Given the description of an element on the screen output the (x, y) to click on. 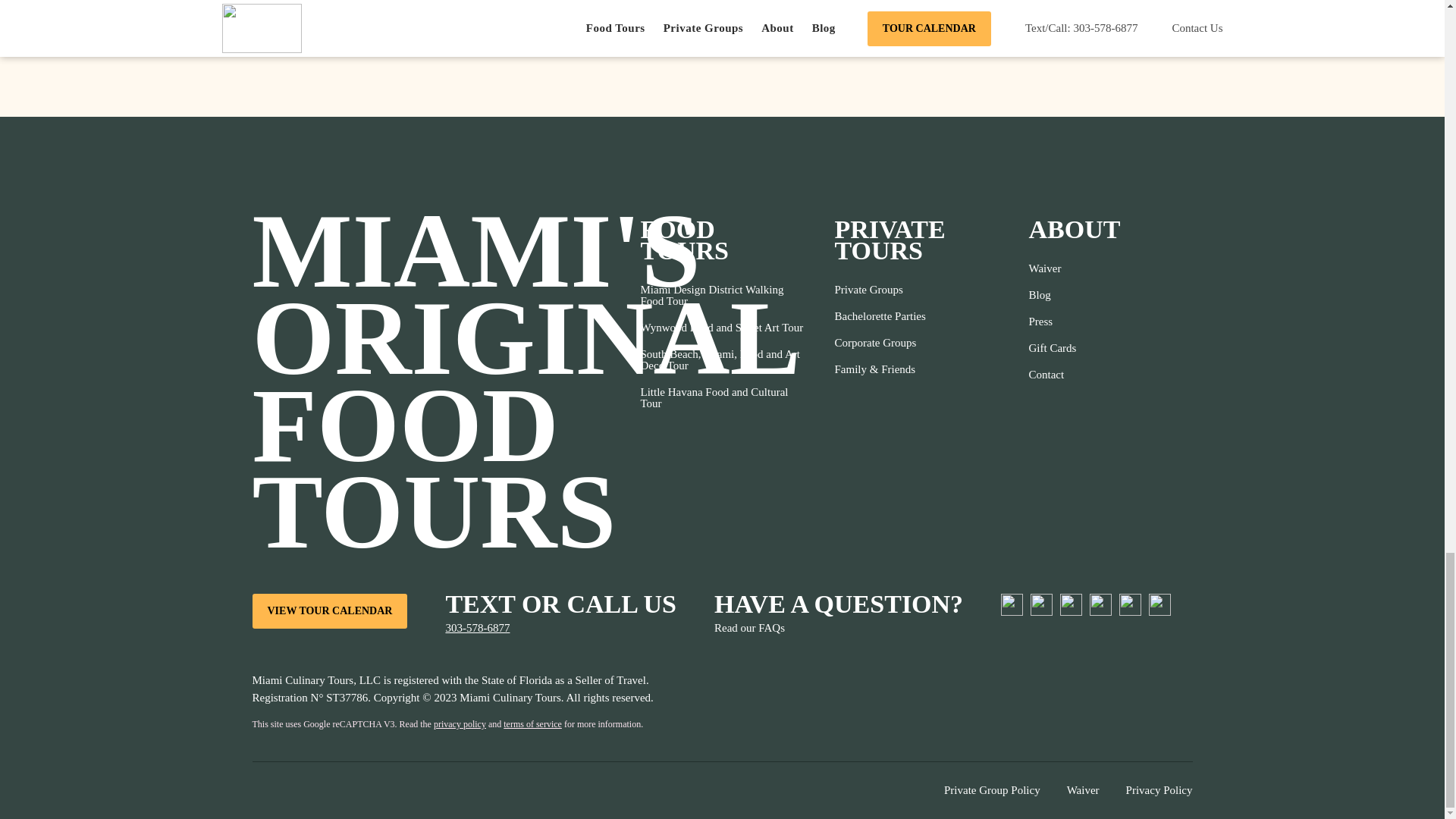
Private Groups (879, 289)
VIEW TOUR CALENDAR (329, 610)
Contact (1051, 374)
Waiver (1051, 268)
Bachelorette Parties (879, 316)
South Beach, Miami, Food and Art Deco Tour (721, 360)
Miami Design District Walking Food Tour (721, 295)
Blog (1051, 294)
Corporate Groups (879, 343)
Press (1051, 321)
